Given the description of an element on the screen output the (x, y) to click on. 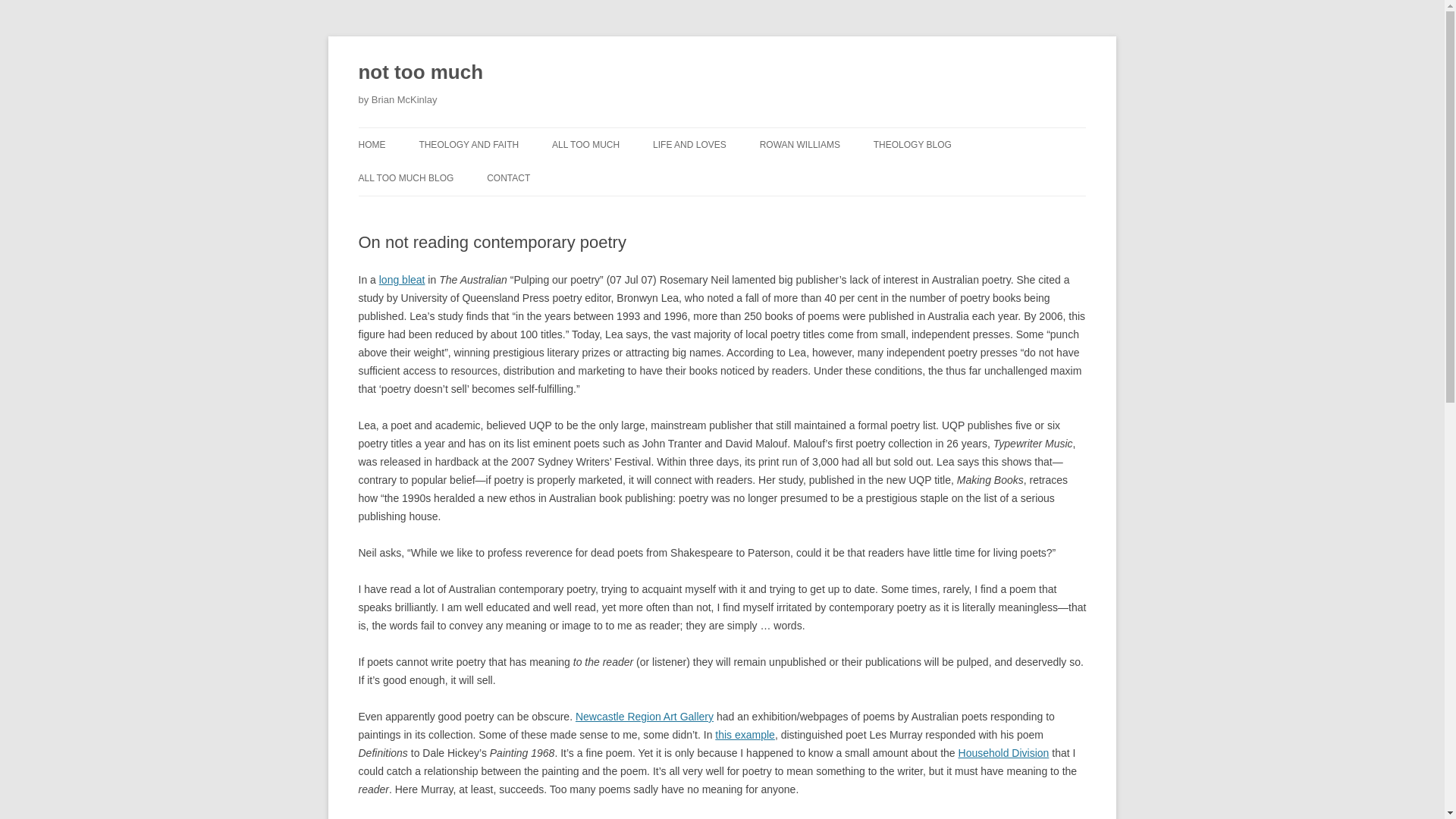
long bleat (401, 279)
ALL TOO MUCH (585, 144)
ALL TOO MUCH BLOG (405, 177)
THEOLOGY AND FAITH (468, 144)
Newcastle Region Art Gallery (644, 716)
CONTACT (507, 177)
not too much (420, 72)
LIFE AND LOVES (689, 144)
ROWAN WILLIAMS (800, 144)
